Given the description of an element on the screen output the (x, y) to click on. 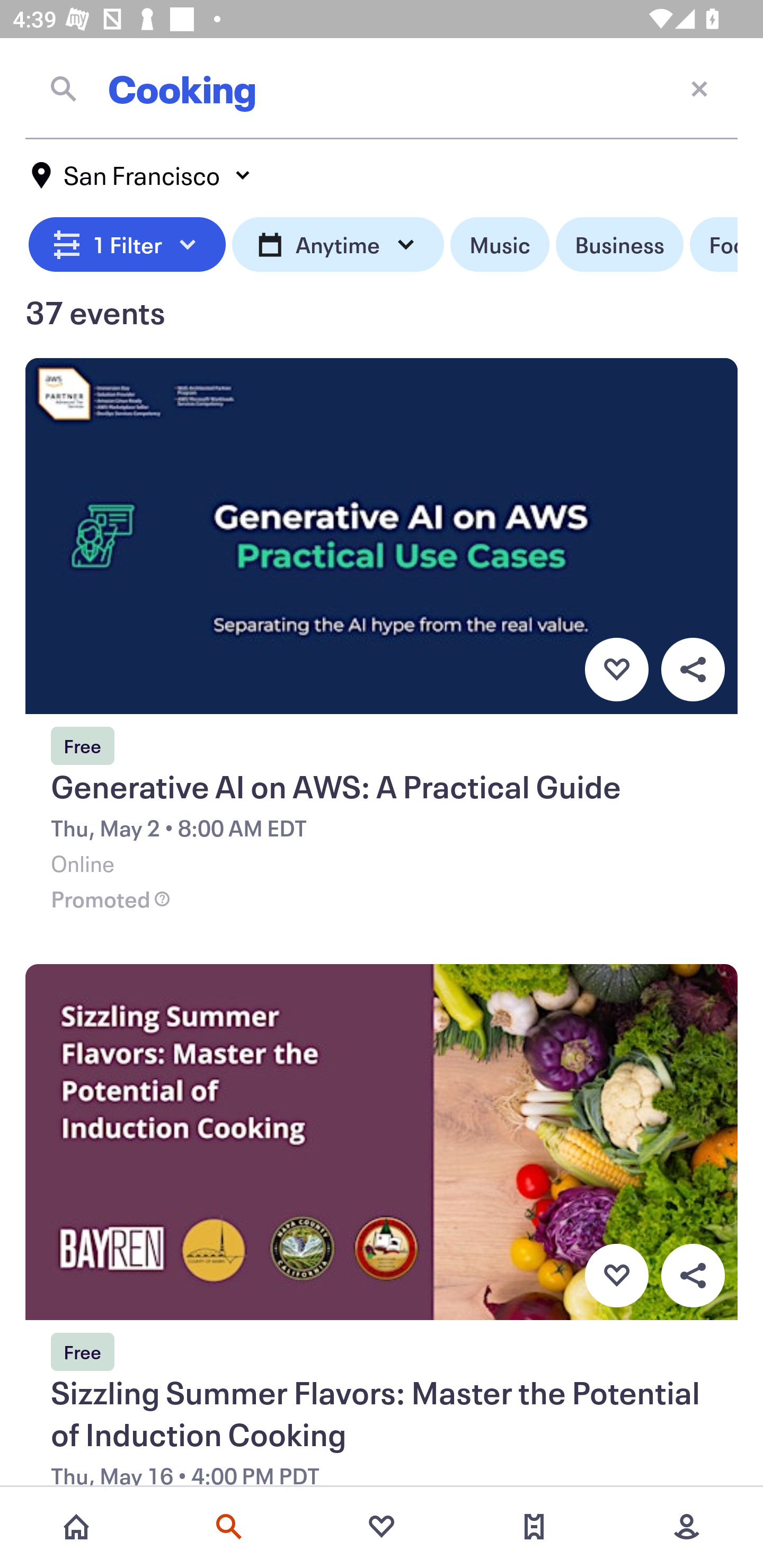
Cooking Close current screen (381, 88)
Close current screen (699, 88)
San Francisco (141, 175)
1 Filter (126, 244)
Anytime (337, 244)
Music (499, 244)
Business (619, 244)
Favorite button (616, 669)
Overflow menu button (692, 669)
Favorite button (616, 1275)
Overflow menu button (692, 1275)
Home (76, 1526)
Search events (228, 1526)
Favorites (381, 1526)
Tickets (533, 1526)
More (686, 1526)
